Given the description of an element on the screen output the (x, y) to click on. 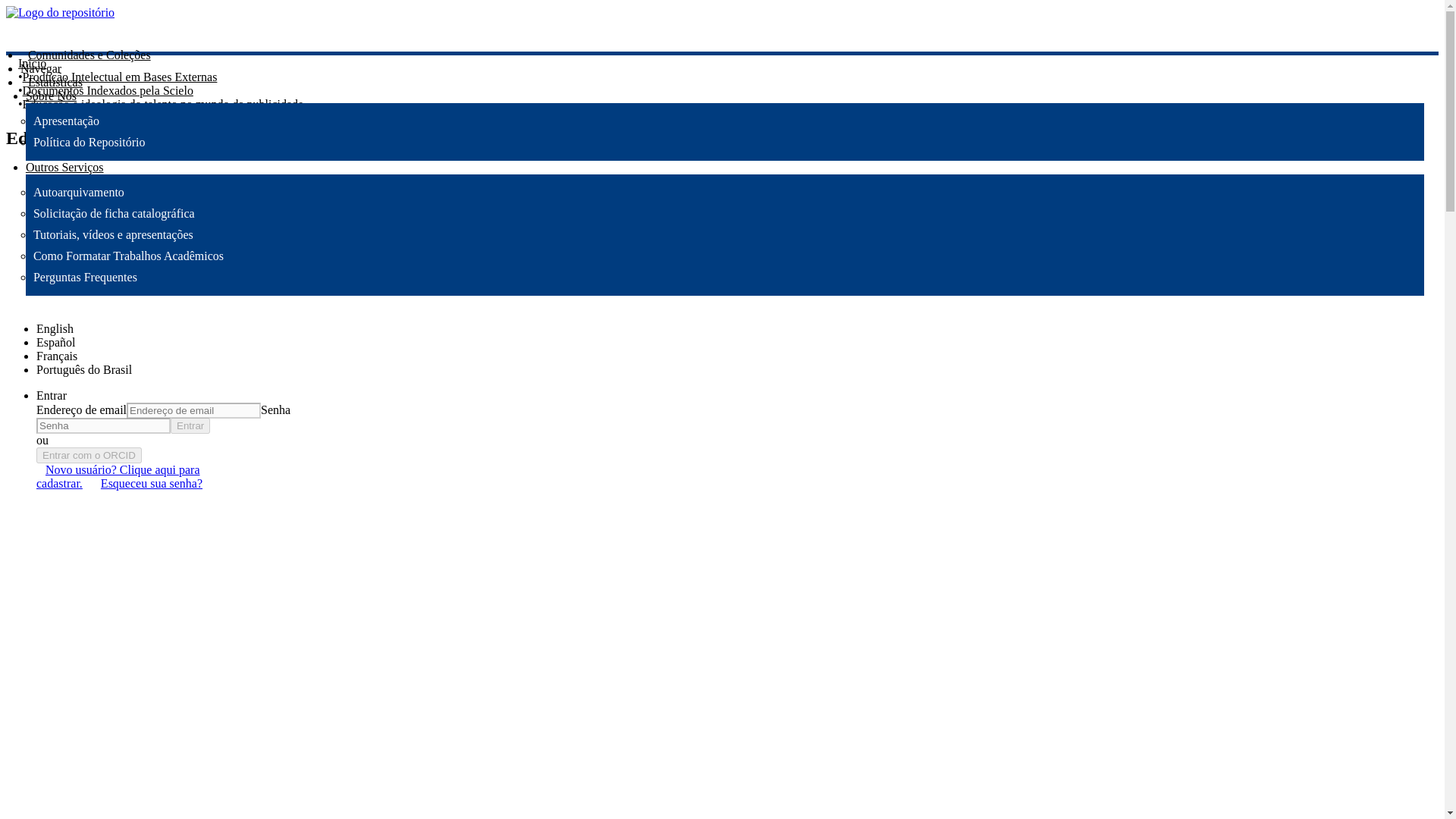
Autoarquivamento (78, 192)
Entrar com o ORCID (88, 455)
Perguntas Frequentes (84, 277)
Navegar (40, 68)
Esqueceu sua senha? (151, 483)
Entrar (189, 425)
Entrar (51, 395)
Documentos Indexados pela Scielo (108, 90)
